Given the description of an element on the screen output the (x, y) to click on. 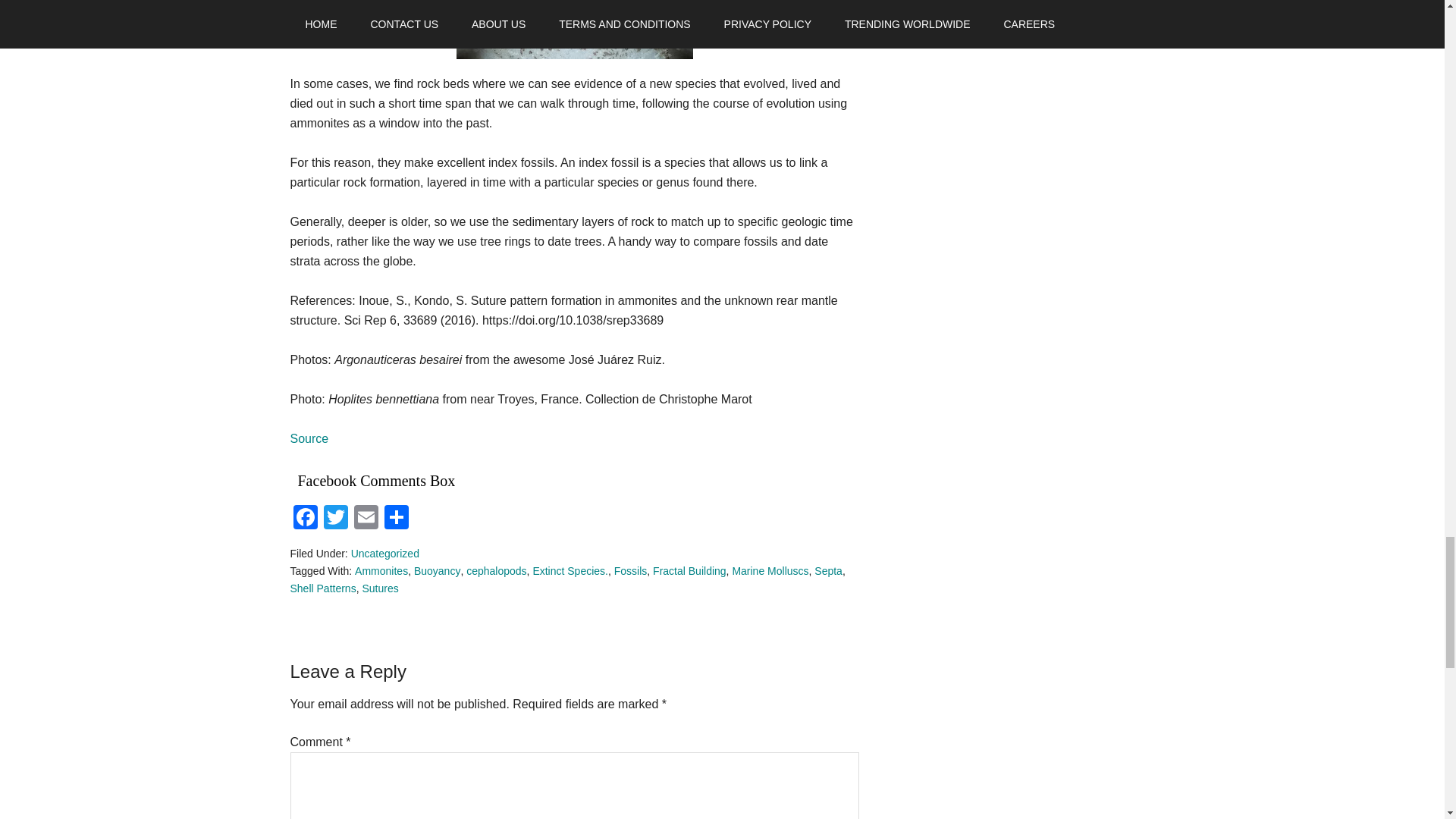
Twitter (335, 519)
Twitter (335, 519)
cephalopods (495, 571)
Marine Molluscs (770, 571)
Email (365, 519)
Uncategorized (384, 553)
Buoyancy (436, 571)
Sutures (379, 588)
Source (309, 438)
Ammonites (381, 571)
